Given the description of an element on the screen output the (x, y) to click on. 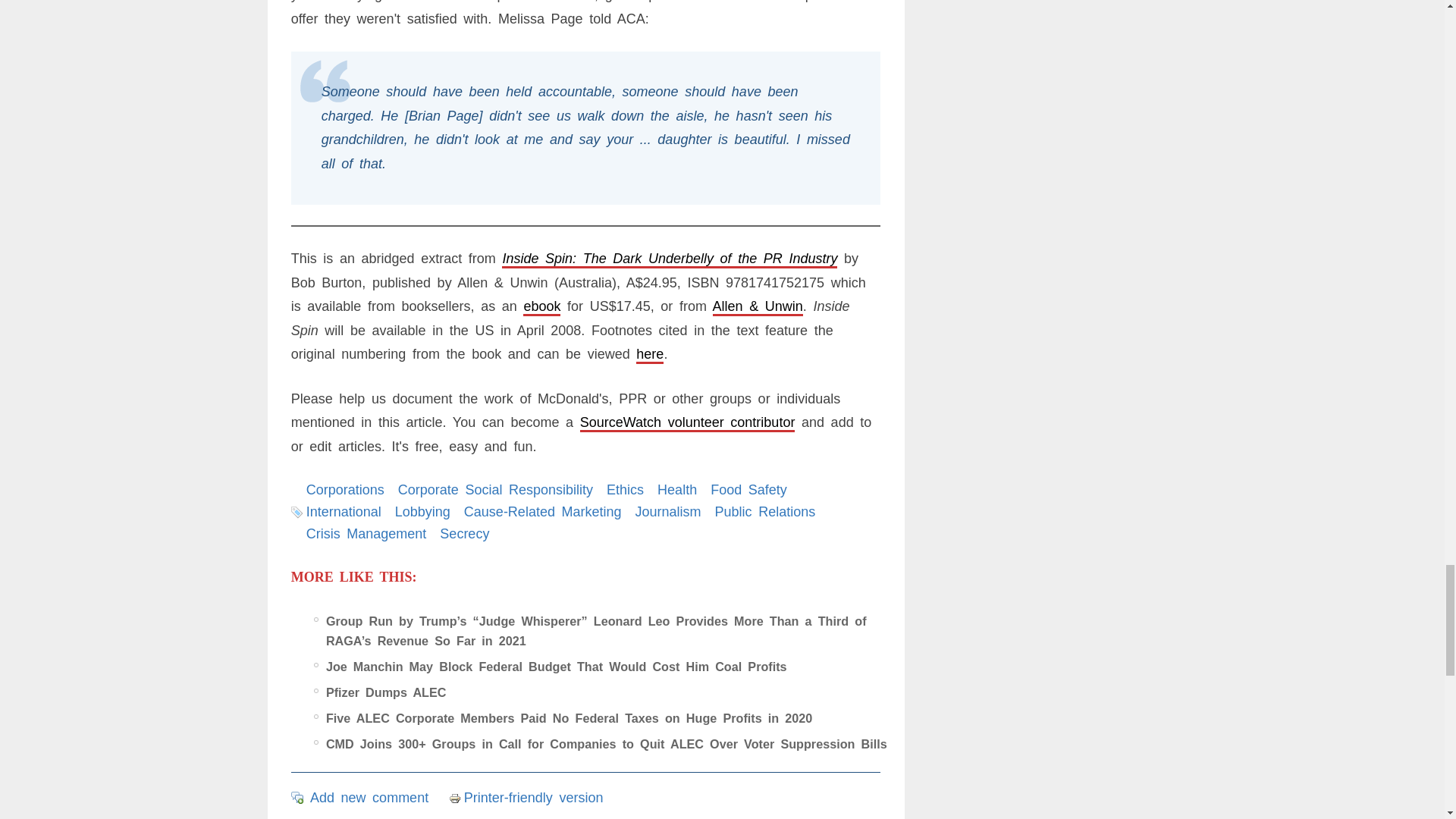
Inside Spin: The Dark Underbelly of the PR Industry (669, 258)
Cause-Related Marketing (542, 511)
SourceWatch volunteer contributor (686, 421)
Printer-friendly version (456, 798)
Corporate Social Responsibility (494, 489)
Health (677, 489)
Lobbying (421, 511)
Journalism (667, 511)
Share your thoughts and opinions related to this posting. (369, 797)
Display a printer-friendly version of this page. (526, 797)
here (649, 353)
Corporations (344, 489)
Ethics (625, 489)
Food Safety (748, 489)
ebook (541, 305)
